Given the description of an element on the screen output the (x, y) to click on. 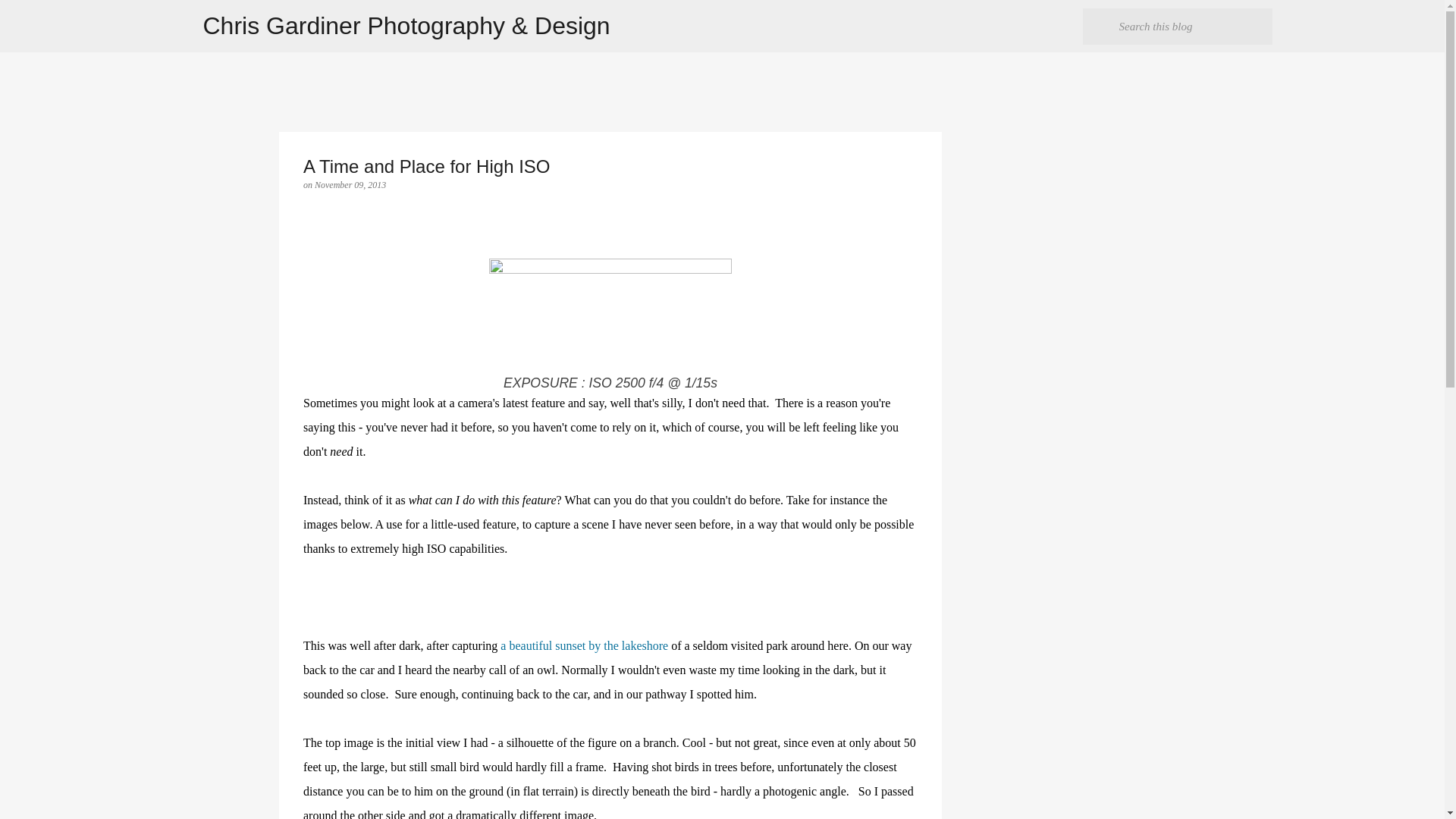
a beautiful sunset by the lakeshore (584, 645)
November 09, 2013 (349, 184)
permanent link (349, 184)
